Given the description of an element on the screen output the (x, y) to click on. 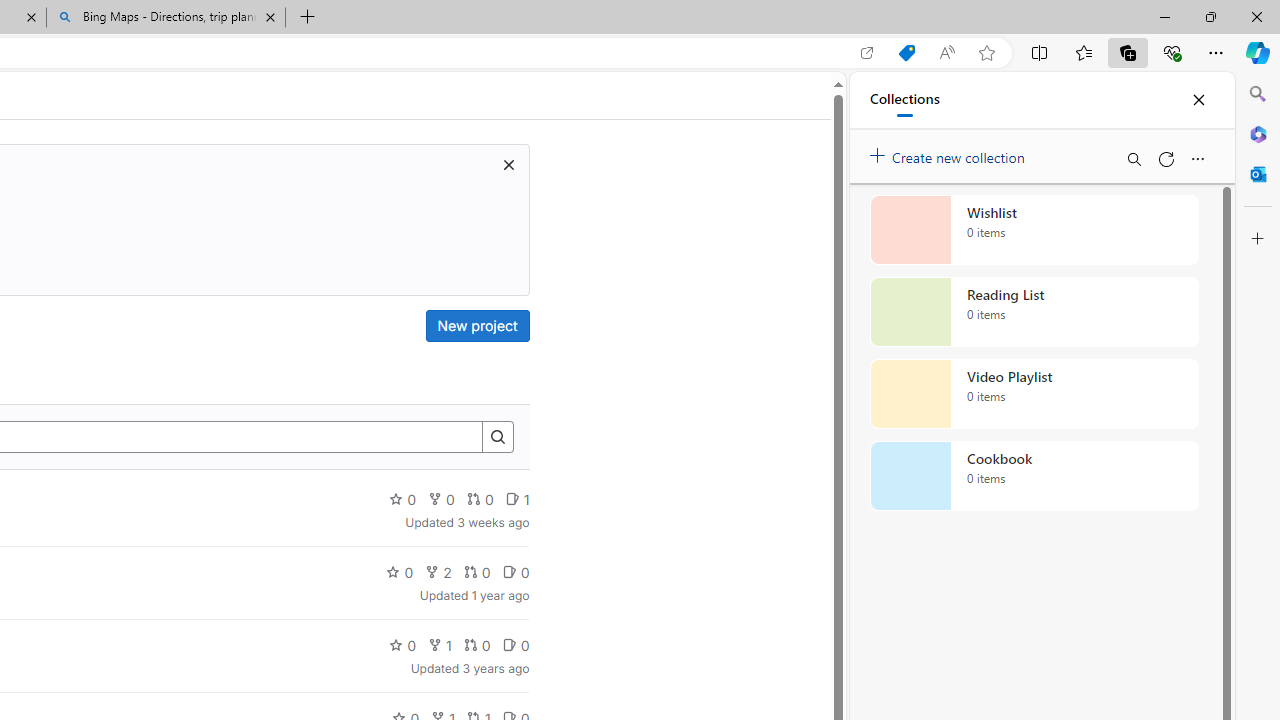
More options menu (1197, 158)
Cookbook collection, 0 items (1034, 475)
Reading List collection, 0 items (1034, 312)
1 (439, 644)
Outlook (1258, 174)
